Given the description of an element on the screen output the (x, y) to click on. 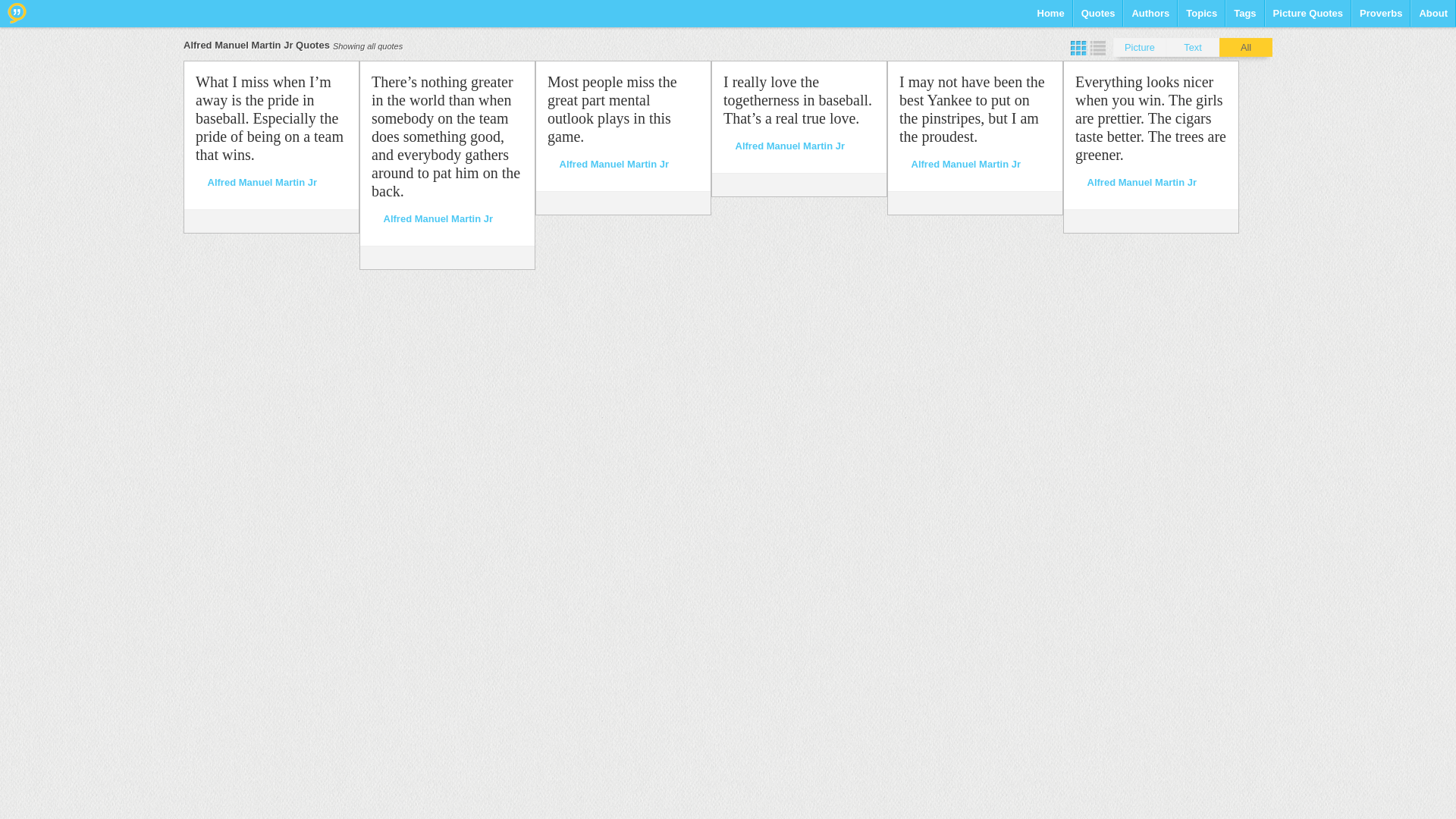
Authors (1150, 18)
Quotes (1098, 18)
Go to Home (16, 13)
Home (1050, 18)
Topics (1201, 18)
Browse by Authors (1150, 18)
Home (1050, 18)
Quotes (1098, 18)
